Given the description of an element on the screen output the (x, y) to click on. 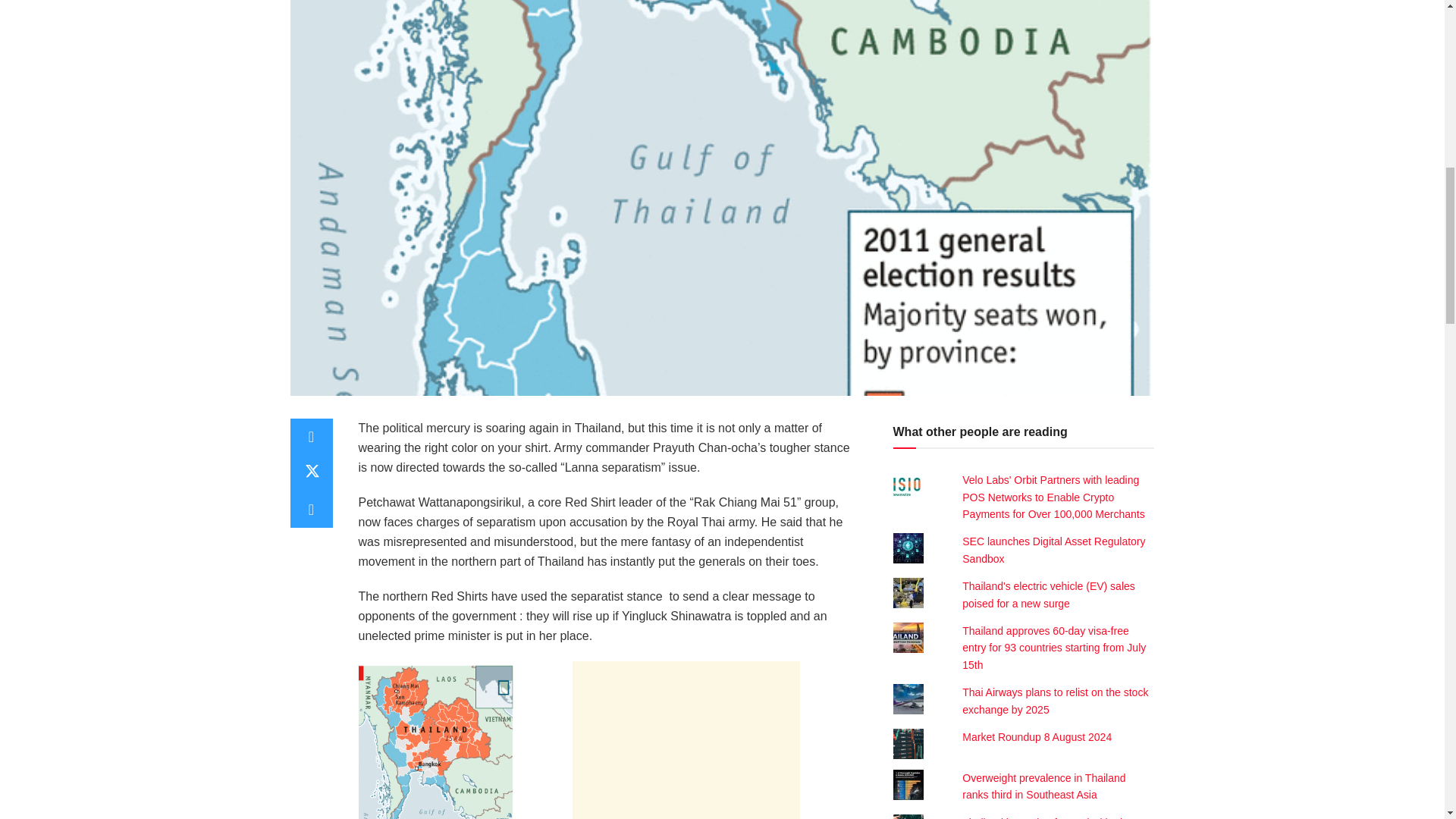
Why Thailand shouldn't be afraid of the f-word 2 (435, 742)
SEC launches Digital Asset Regulatory Sandbox (1053, 549)
